Given the description of an element on the screen output the (x, y) to click on. 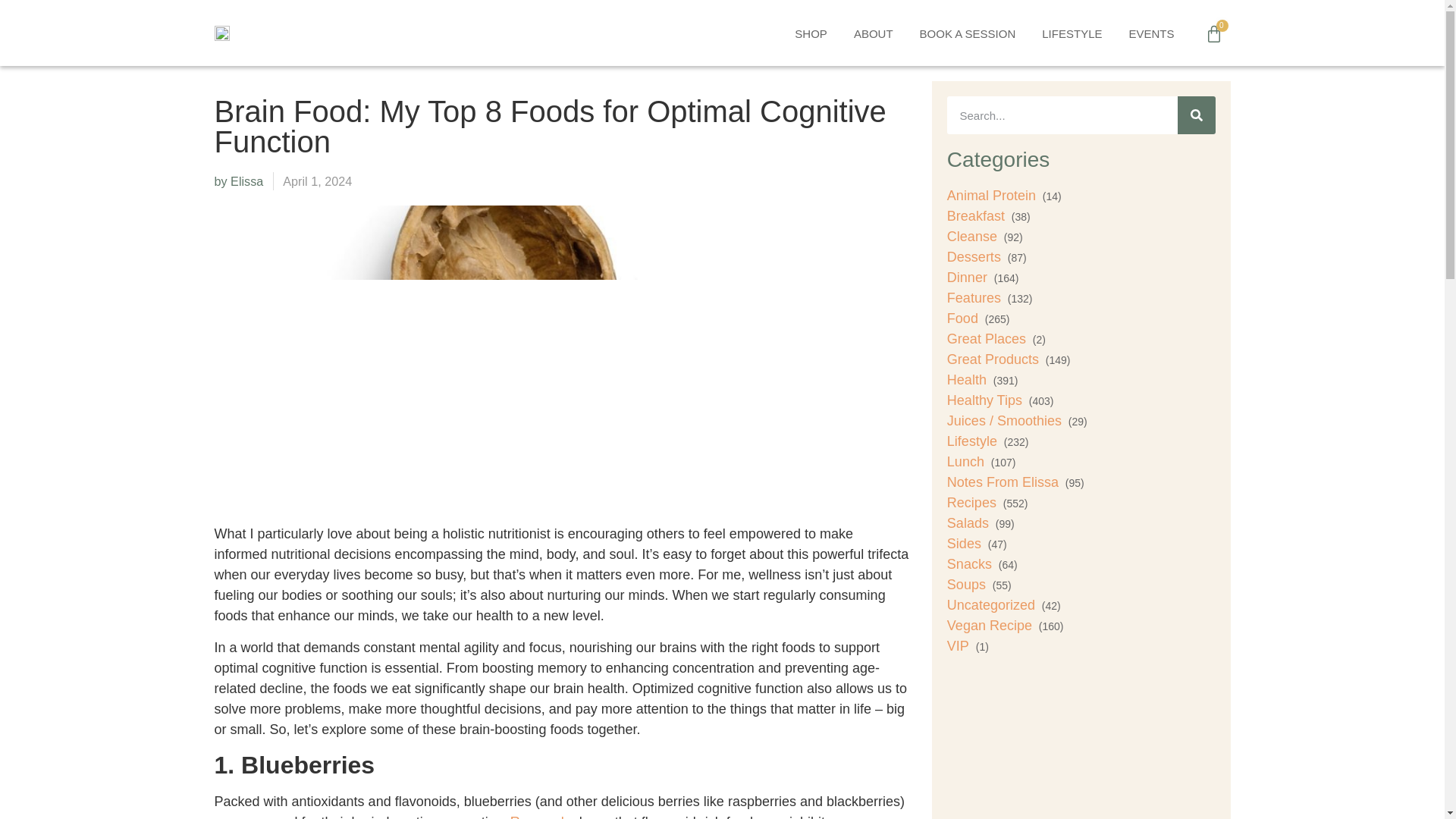
LIFESTYLE (1071, 34)
EVENTS (1150, 34)
ABOUT (873, 34)
SHOP (810, 34)
BOOK A SESSION (967, 34)
